Given the description of an element on the screen output the (x, y) to click on. 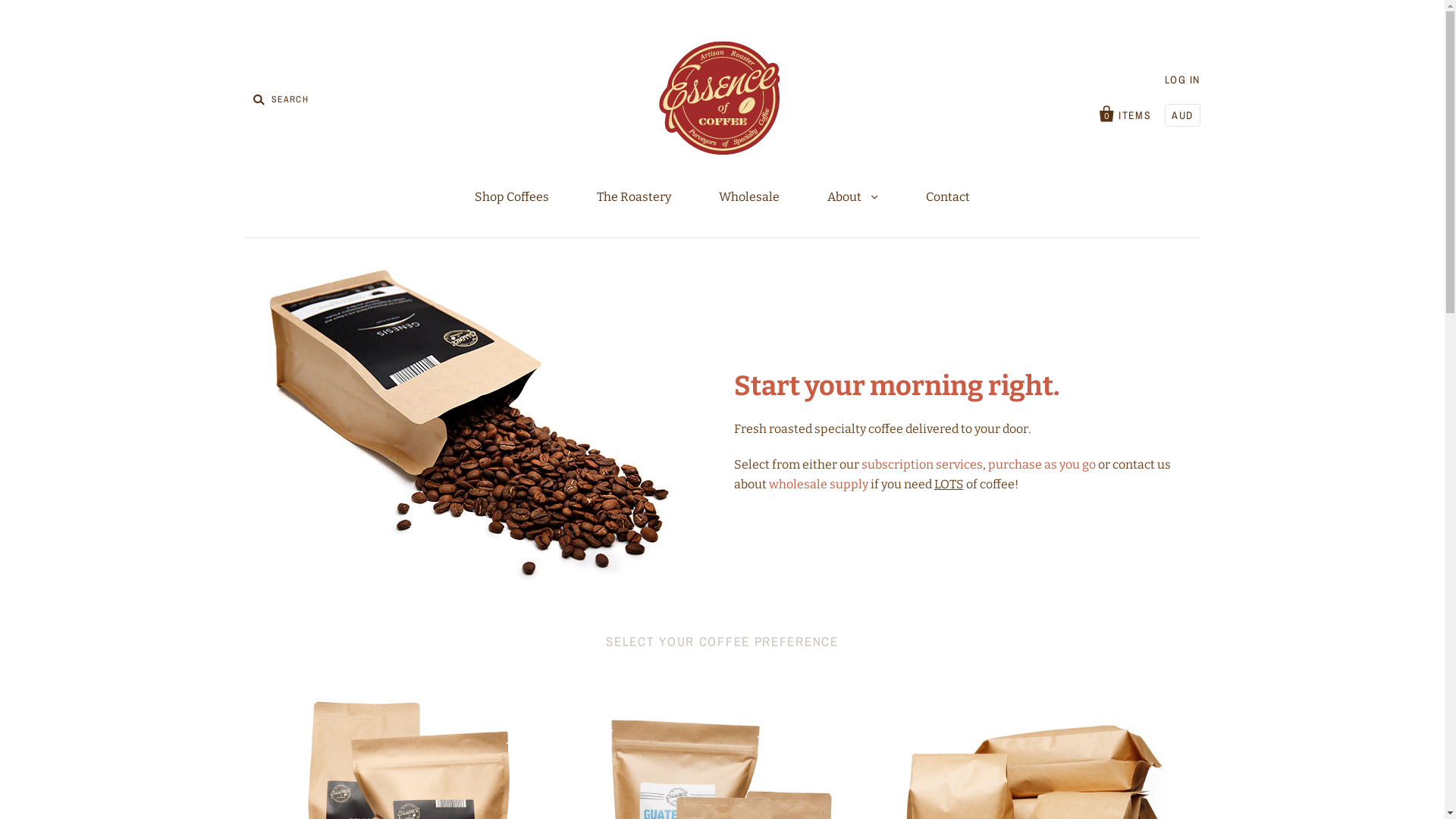
Shop Coffees Element type: text (511, 196)
About Element type: text (852, 196)
subscription services Element type: text (921, 464)
wholesale supply Element type: text (818, 483)
Wholesale Element type: text (749, 196)
purchase as you go Element type: text (1041, 464)
Contact Element type: text (947, 196)
LOG IN Element type: text (1181, 79)
0
ITEMS Element type: text (1125, 111)
The Roastery Element type: text (633, 196)
